Given the description of an element on the screen output the (x, y) to click on. 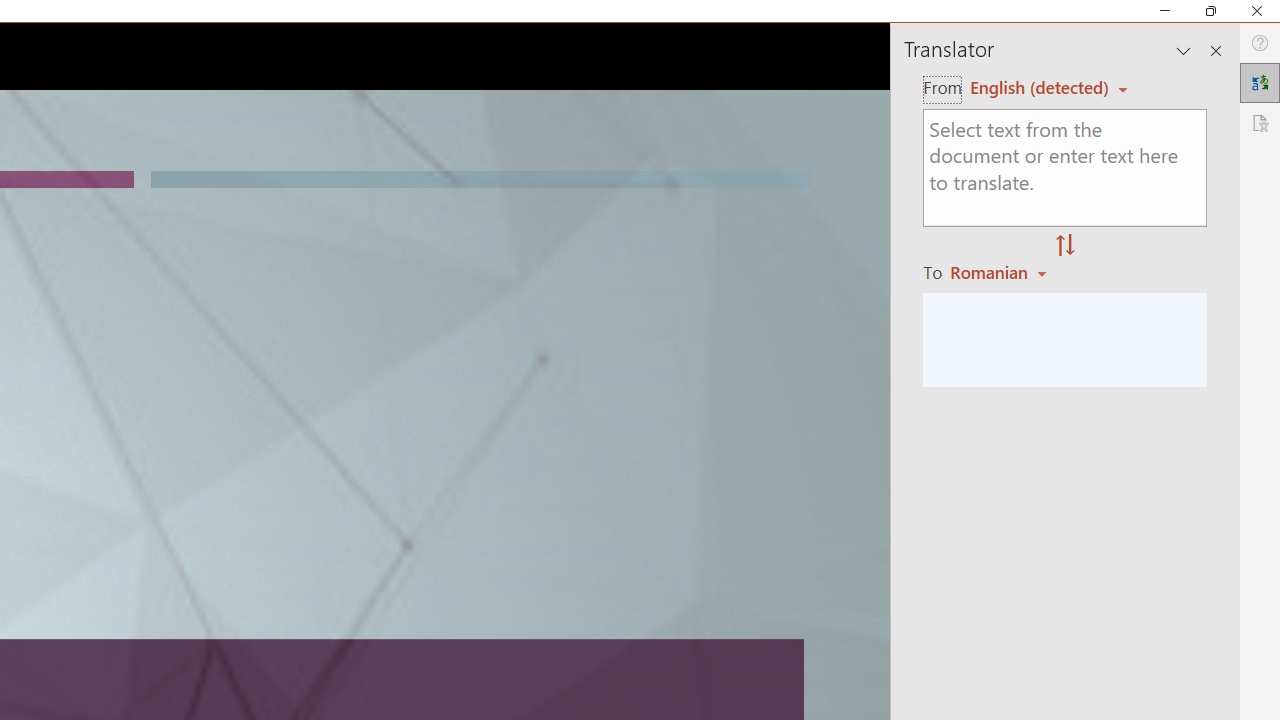
Romanian (1001, 272)
Czech (detected) (1039, 87)
